Given the description of an element on the screen output the (x, y) to click on. 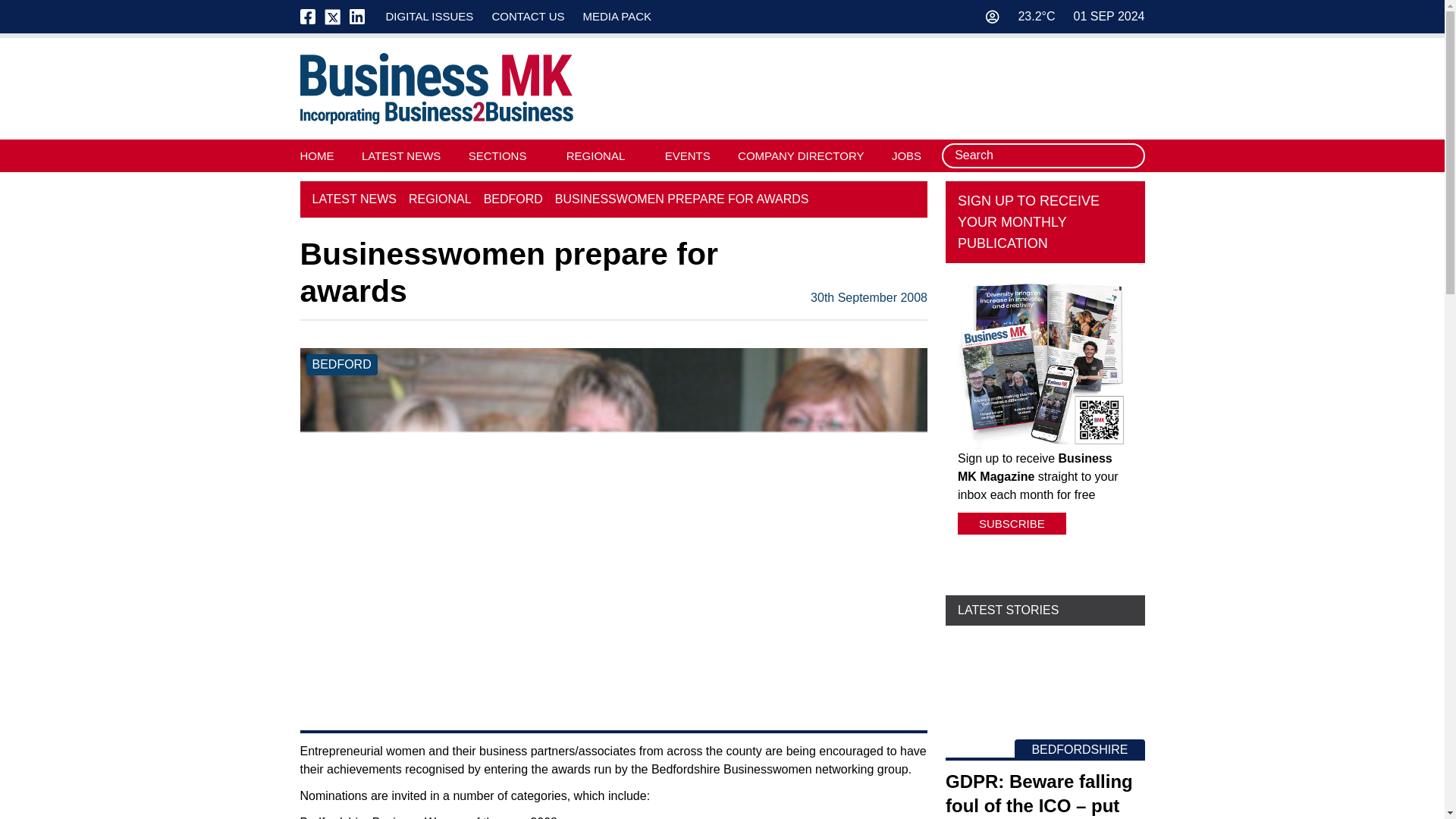
Business mk on LinkedIn (356, 16)
See all bedford (341, 364)
Go to Latest News. (354, 198)
Search (1128, 155)
DIGITAL ISSUES (429, 15)
MEDIA PACK (616, 15)
CONTACT US (528, 15)
LATEST NEWS (401, 155)
REGIONAL (596, 155)
SECTIONS (497, 155)
